Given the description of an element on the screen output the (x, y) to click on. 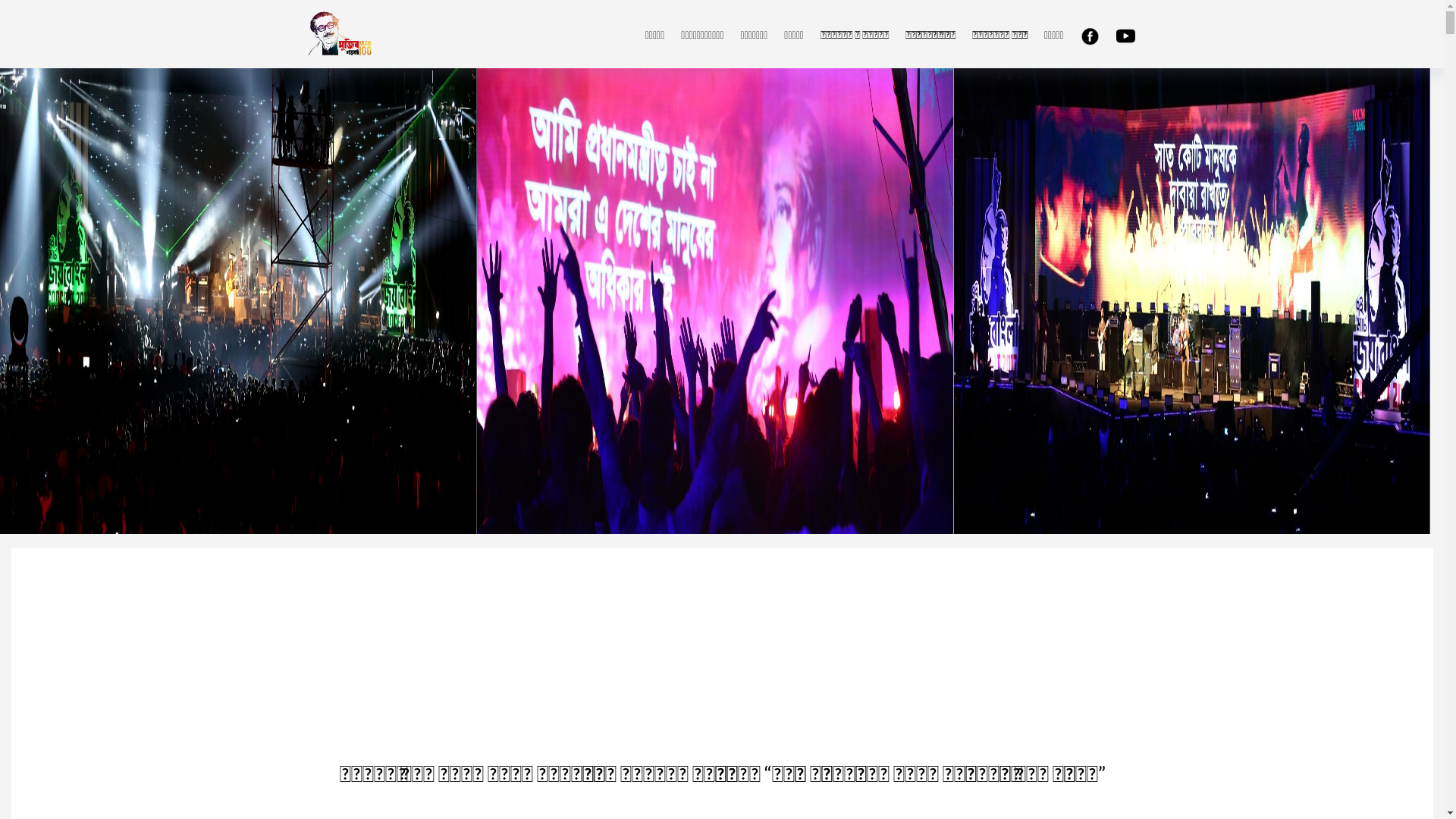
0 Element type: text (1103, 122)
0 Element type: text (1103, 95)
